Given the description of an element on the screen output the (x, y) to click on. 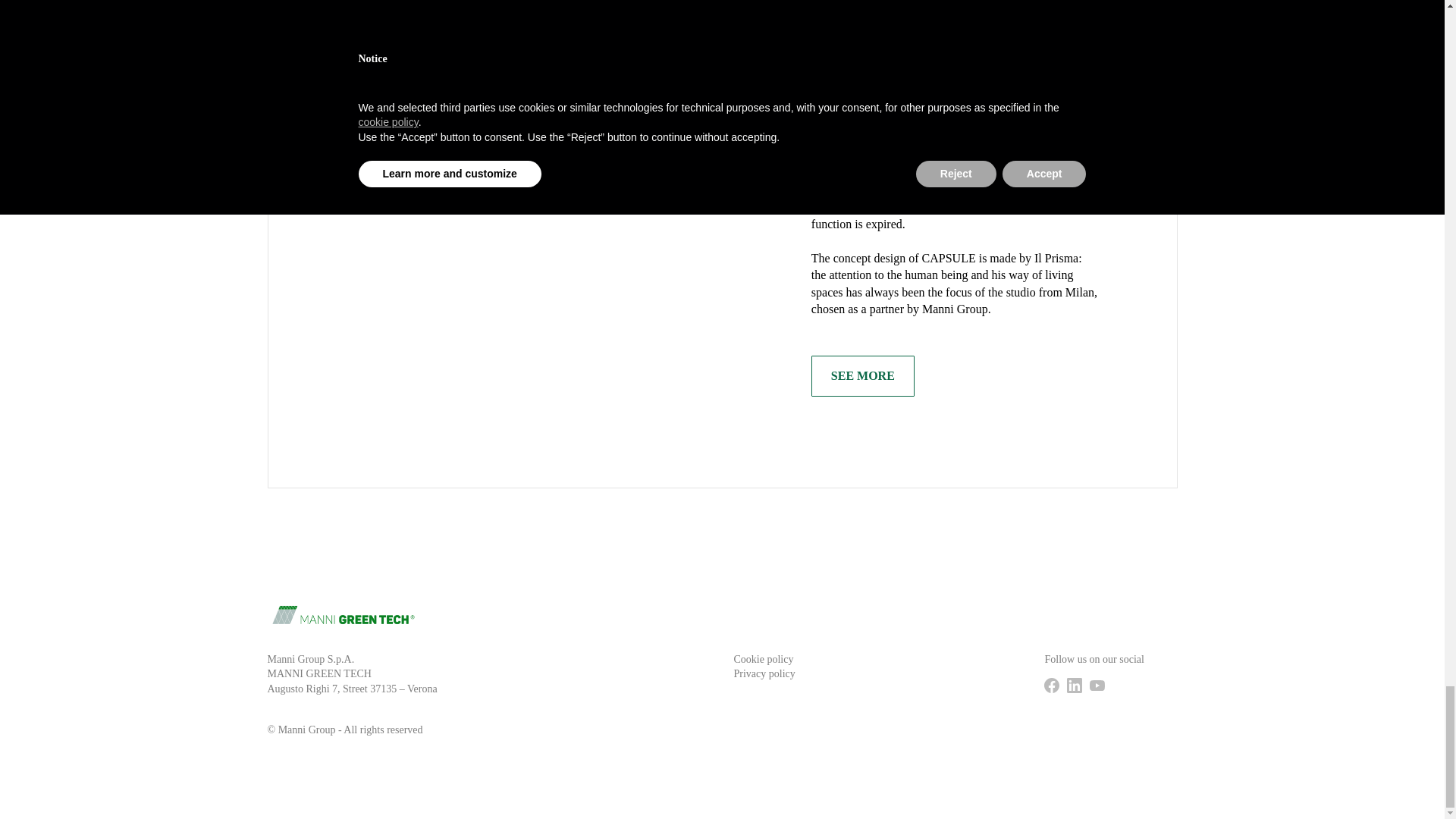
Privacy policy (763, 673)
Facebook (1051, 685)
See more (862, 375)
Cookie policy (763, 659)
SEE MORE (862, 375)
YouTube (1097, 685)
LinkedIn (1074, 685)
